Given the description of an element on the screen output the (x, y) to click on. 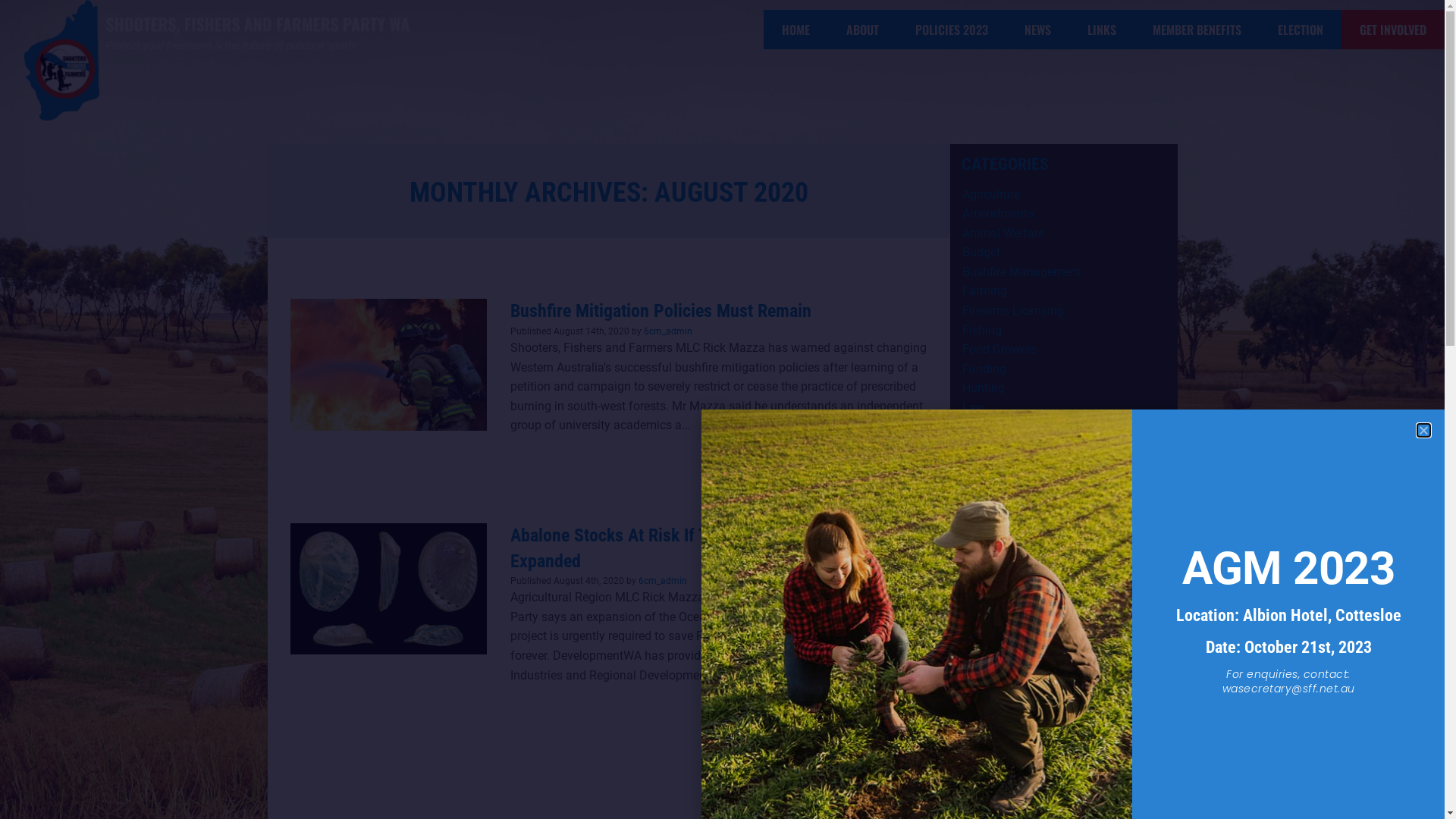
SSAA(WA) Element type: text (989, 640)
Farming Element type: text (983, 290)
LINKS Element type: text (1101, 29)
Property Rights Element type: text (1002, 543)
Agriculture Element type: text (990, 193)
Rental Assistance Program Element type: text (1033, 601)
Abalone Stocks At Risk If Translocation Project Not Expanded Element type: text (696, 547)
ELECTION Element type: text (1300, 29)
HOME Element type: text (795, 29)
Parliament Element type: text (990, 484)
GET INVOLVED Element type: text (1392, 29)
Regulations Element type: text (993, 581)
Budget Element type: text (980, 251)
Amendments Element type: text (996, 213)
Media Releases Element type: text (1003, 465)
6cm_admin Element type: text (662, 580)
Bushfire mitigation policies must remain Element type: hover (387, 363)
Food Growers Element type: text (998, 349)
April 2020 Element type: text (988, 797)
Shooters Fishers and Farmers Element type: text (1041, 621)
Bushfire Management Element type: text (1020, 271)
Pest Control Element type: text (993, 504)
Law Element type: text (972, 407)
September 2020 Element type: text (1005, 738)
December 2021 Element type: text (1003, 719)
Funding Element type: text (983, 368)
June 2020 Element type: text (989, 778)
POLICIES 2023 Element type: text (951, 29)
wasecretary@sff.net.au Element type: text (1288, 688)
Abalone stocks at risk if translocation project not expanded Element type: hover (387, 587)
Bushfire Mitigation Policies Must Remain Element type: text (659, 310)
Fishing Element type: text (981, 330)
Hunting Element type: text (982, 387)
Firearms Licensing Element type: text (1012, 310)
Tax Element type: text (971, 659)
ABOUT Element type: text (862, 29)
MEMBER BENEFITS Element type: text (1196, 29)
Regional Development Element type: text (1021, 562)
Abalone stocks at risk if translocation project not expanded Element type: hover (387, 588)
Live Export Element type: text (990, 446)
Legislation Element type: text (990, 427)
Policy Element type: text (977, 524)
Bushfire mitigation policies must remain Element type: hover (387, 363)
Animal Welfare Element type: text (1002, 232)
NEWS Element type: text (1037, 29)
August 2020 Element type: text (995, 758)
6cm_admin Element type: text (667, 331)
